Given the description of an element on the screen output the (x, y) to click on. 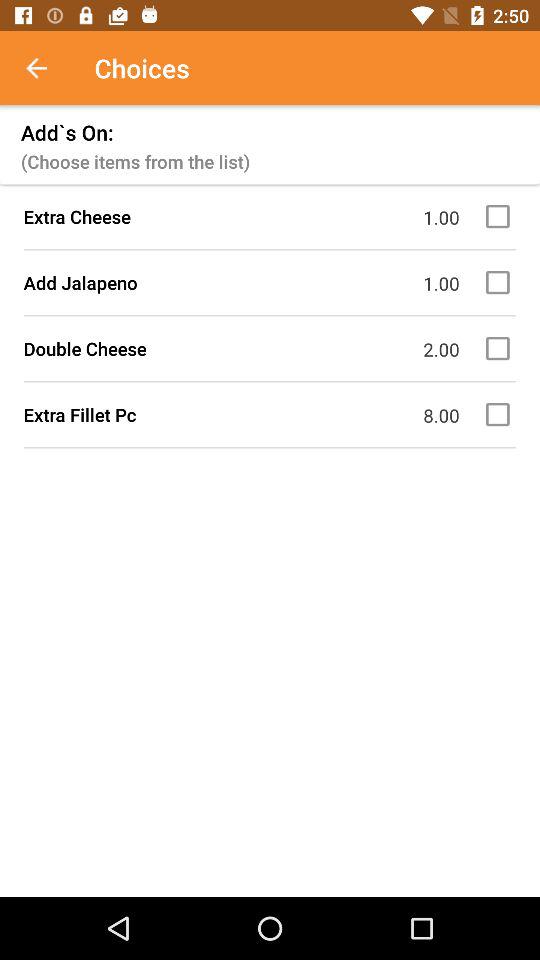
double cheese select button (501, 348)
